Given the description of an element on the screen output the (x, y) to click on. 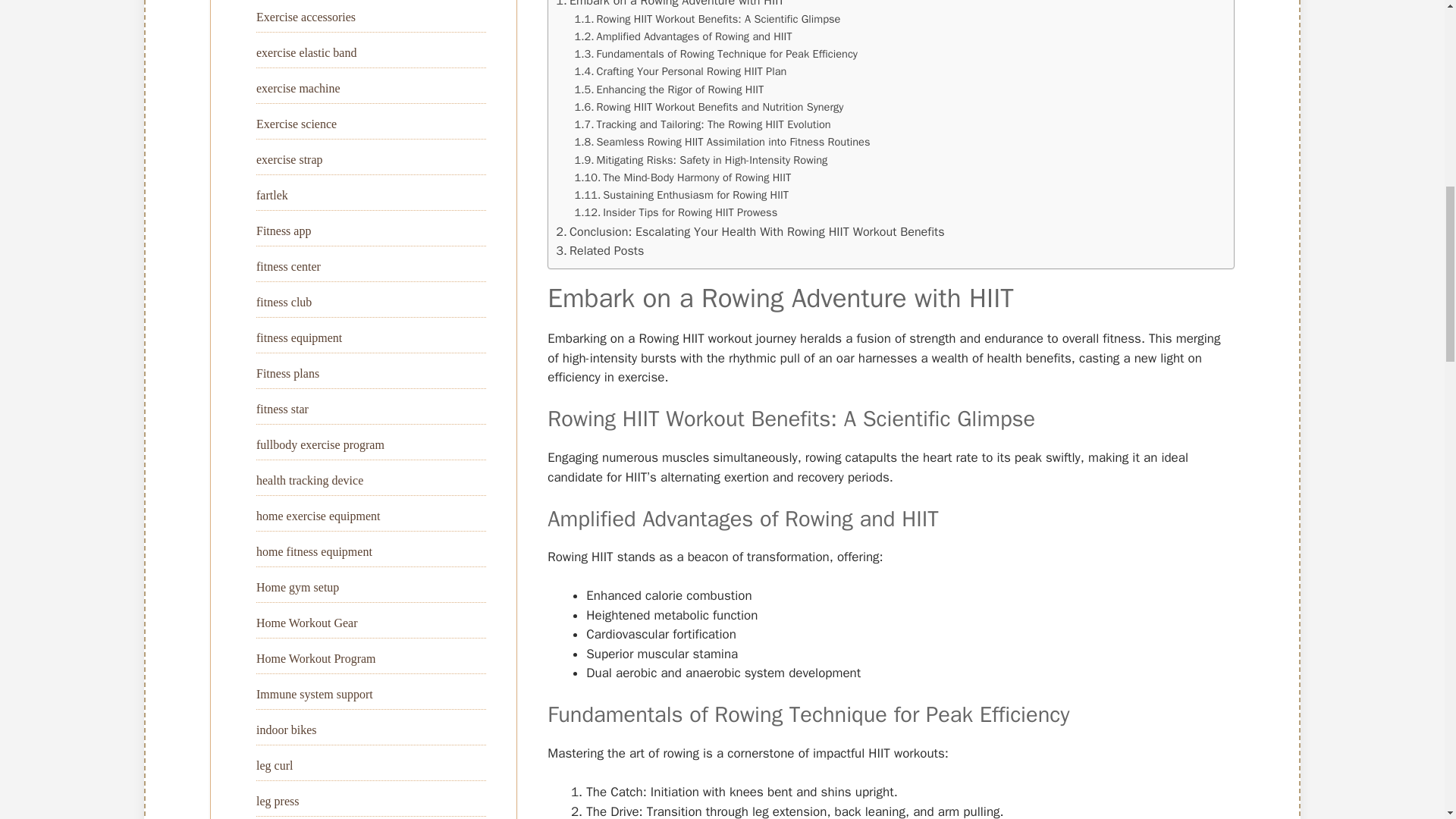
Mitigating Risks: Safety in High-Intensity Rowing (701, 159)
Tracking and Tailoring: The Rowing HIIT Evolution (703, 124)
Enhancing the Rigor of Rowing HIIT (669, 89)
Seamless Rowing HIIT Assimilation into Fitness Routines (722, 141)
Enhancing the Rigor of Rowing HIIT (669, 89)
Crafting Your Personal Rowing HIIT Plan (681, 71)
Rowing HIIT Workout Benefits: A Scientific Glimpse (708, 18)
Embark on a Rowing Adventure with HIIT (670, 5)
Rowing HIIT Workout Benefits and Nutrition Synergy (709, 107)
Insider Tips for Rowing HIIT Prowess (676, 212)
Related Posts (599, 250)
Amplified Advantages of Rowing and HIIT (683, 36)
Amplified Advantages of Rowing and HIIT (683, 36)
Seamless Rowing HIIT Assimilation into Fitness Routines (722, 141)
Rowing HIIT Workout Benefits and Nutrition Synergy (709, 107)
